Given the description of an element on the screen output the (x, y) to click on. 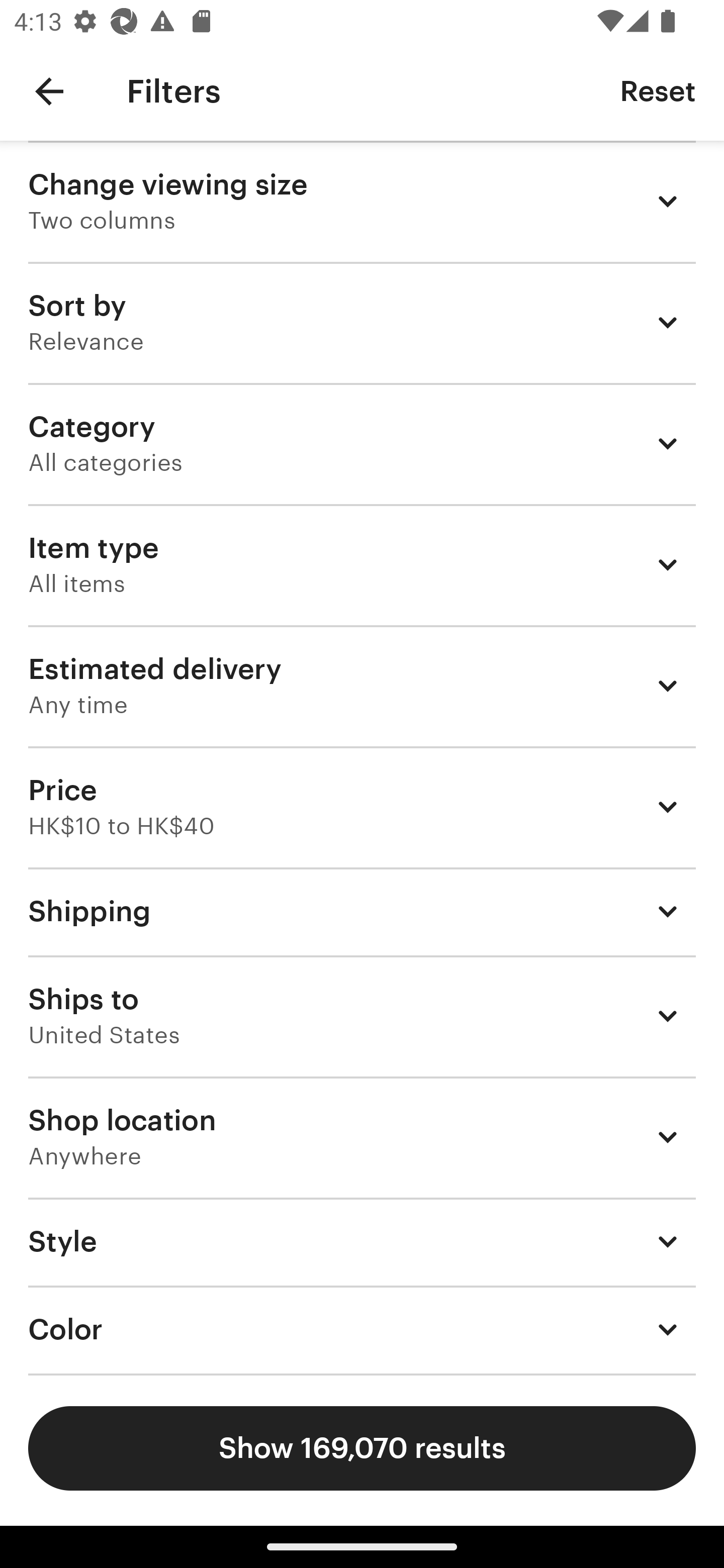
Navigate up (49, 91)
Reset (657, 90)
Change viewing size Two columns (362, 201)
Sort by Relevance (362, 321)
Category All categories (362, 442)
Item type All items (362, 564)
Estimated delivery Any time (362, 685)
Price HK$10 to HK$40 (362, 806)
Shipping (362, 910)
Ships to United States (362, 1015)
Shop location Anywhere (362, 1137)
Style (362, 1241)
Color (362, 1329)
Show 169,070 results Show results (361, 1448)
